Given the description of an element on the screen output the (x, y) to click on. 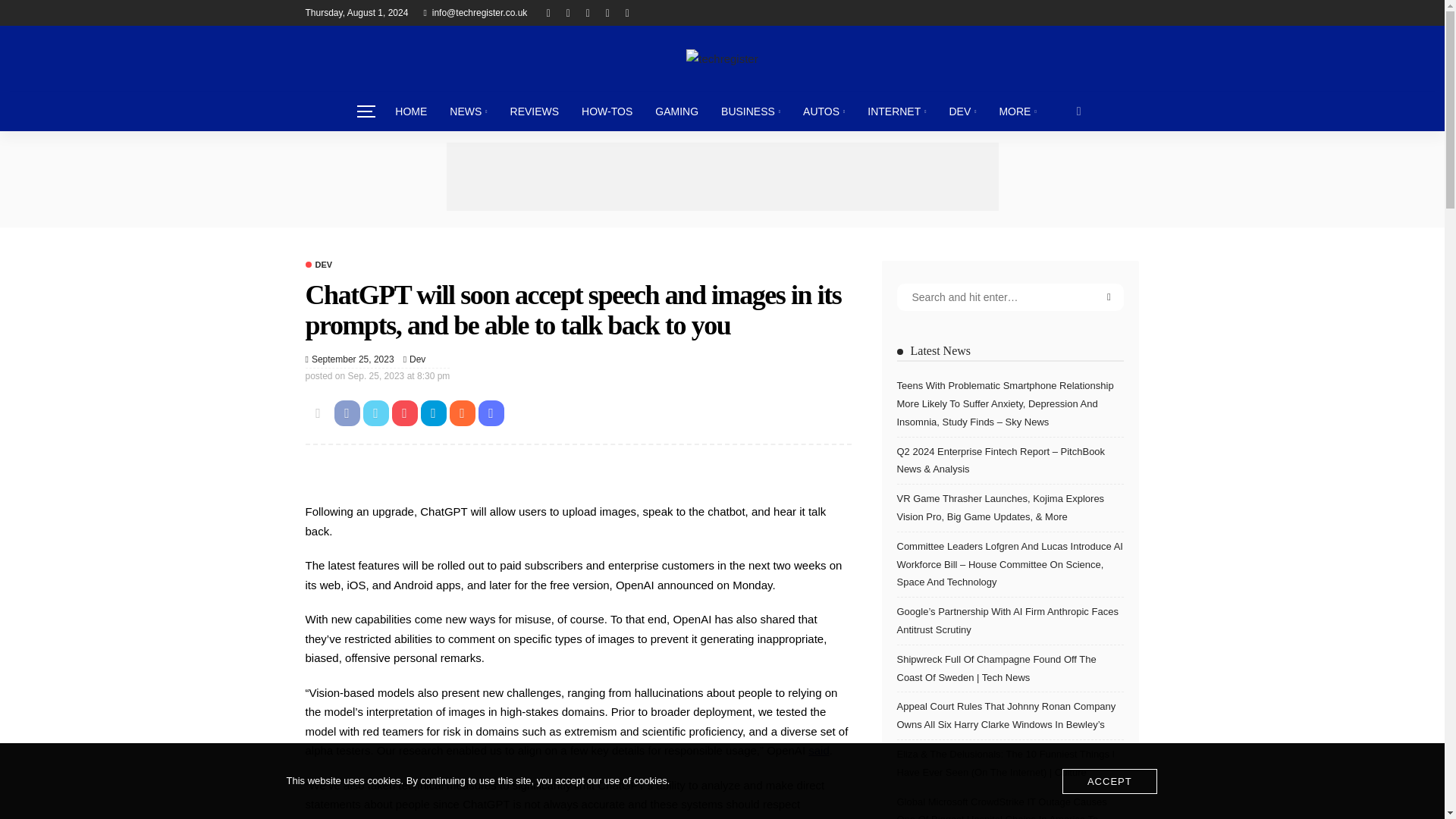
search (1079, 111)
Dev (317, 265)
Dev (417, 359)
Techregister (721, 58)
